Given the description of an element on the screen output the (x, y) to click on. 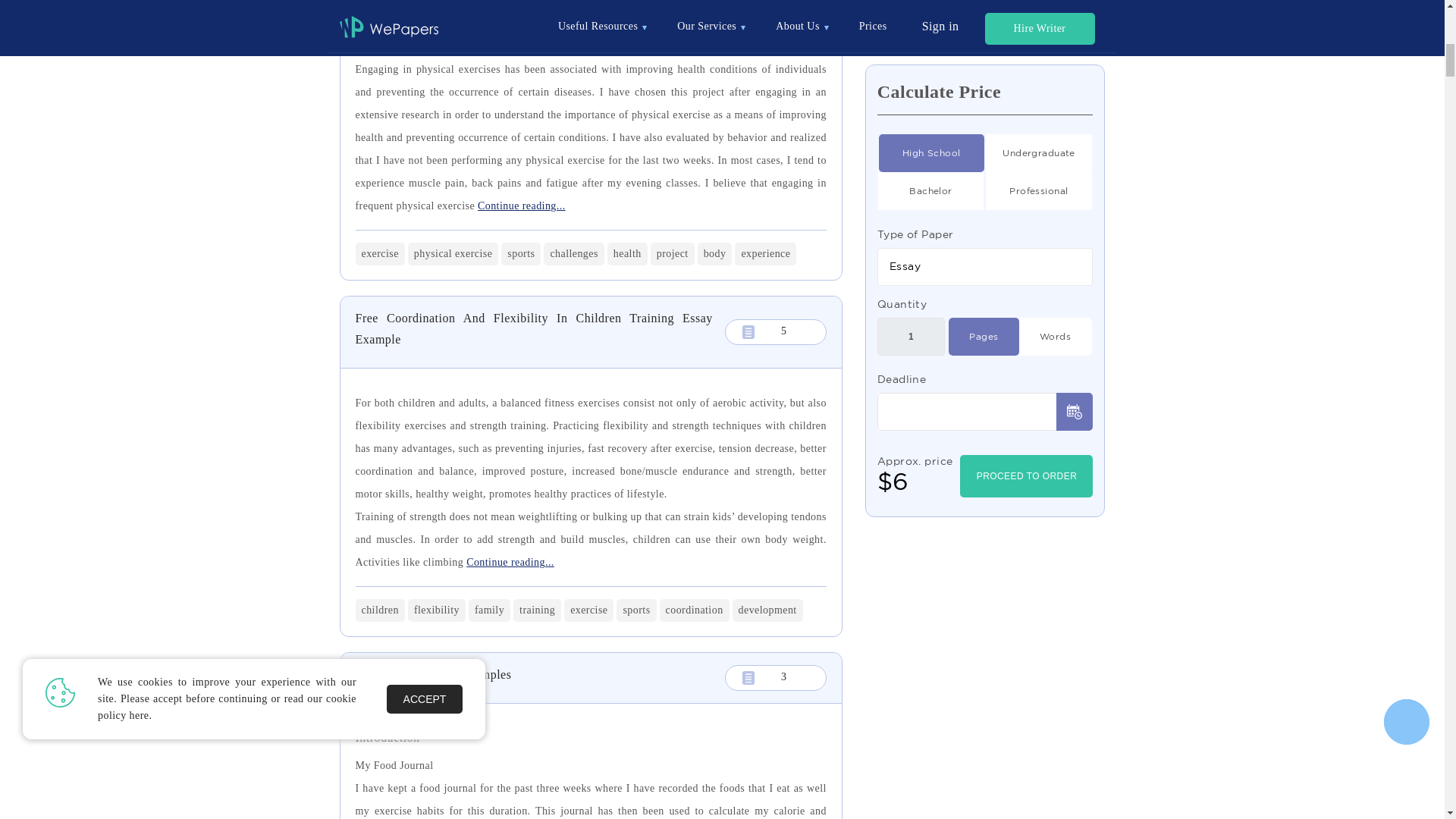
Essay (985, 180)
4 (1038, 104)
6 (931, 67)
1 (1038, 67)
on (1054, 250)
3 (931, 104)
1 (910, 250)
on (983, 250)
